Given the description of an element on the screen output the (x, y) to click on. 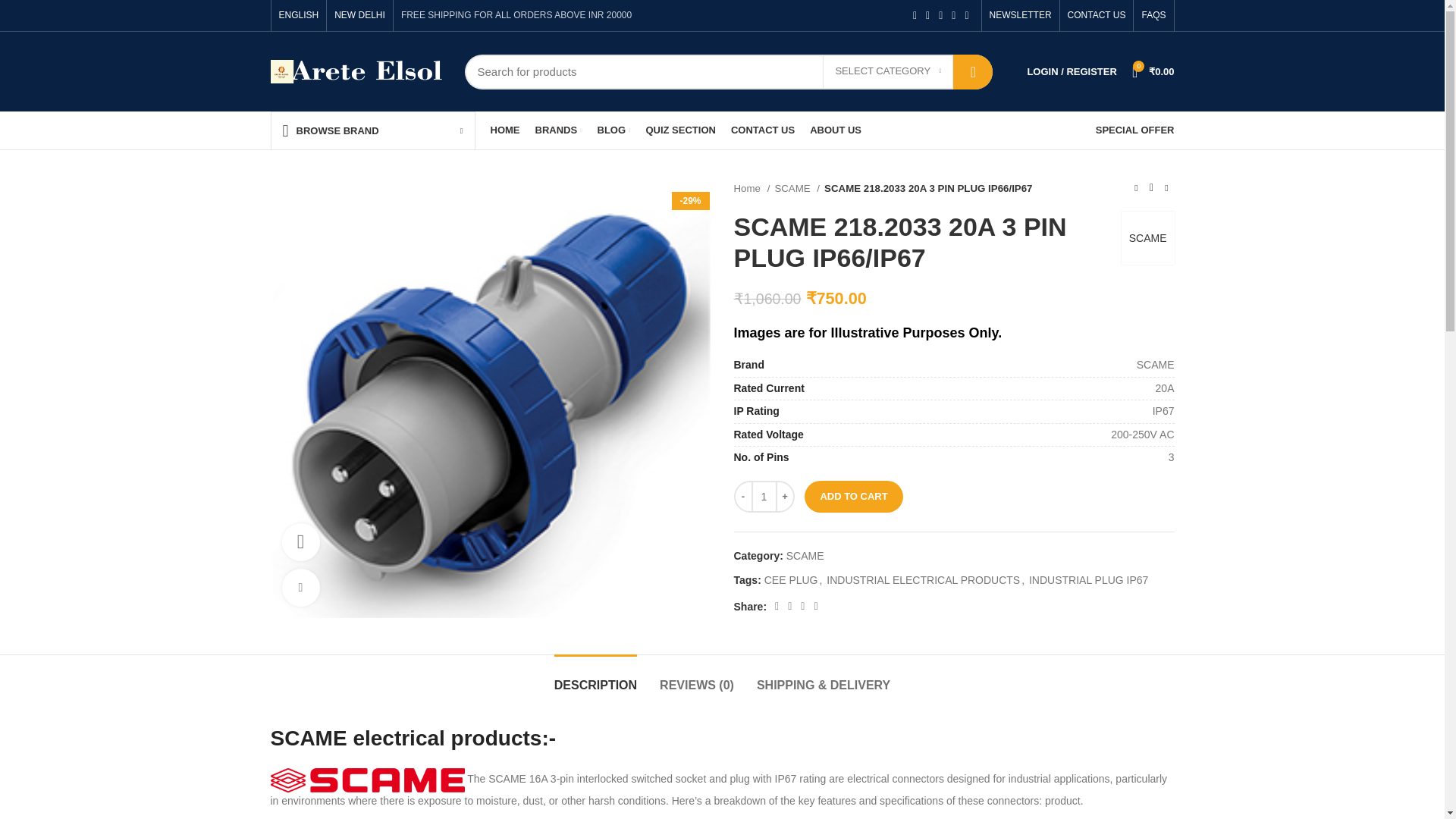
NEWSLETTER (1020, 15)
HOME (504, 130)
ENGLISH (298, 15)
My account (1071, 71)
Search for products (728, 71)
Shopping cart (1153, 71)
BRANDS (558, 130)
SEARCH (972, 71)
CONTACT US (1096, 15)
SELECT CATEGORY (887, 71)
NEW DELHI (359, 15)
SELECT CATEGORY (887, 71)
FAQS (1153, 15)
